Given the description of an element on the screen output the (x, y) to click on. 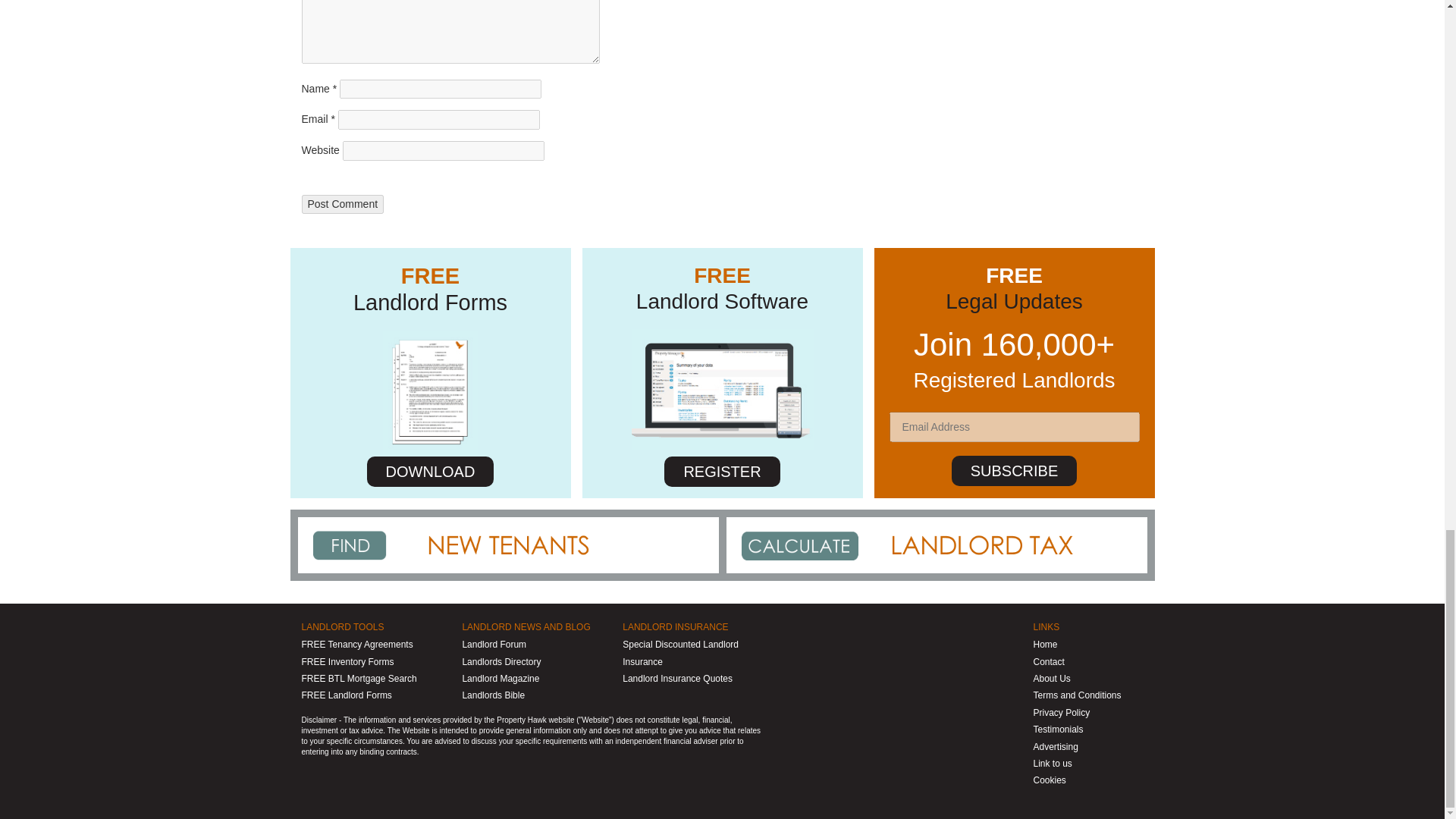
SUBSCRIBE (1014, 470)
Post Comment (342, 204)
Post Comment (342, 204)
